Given the description of an element on the screen output the (x, y) to click on. 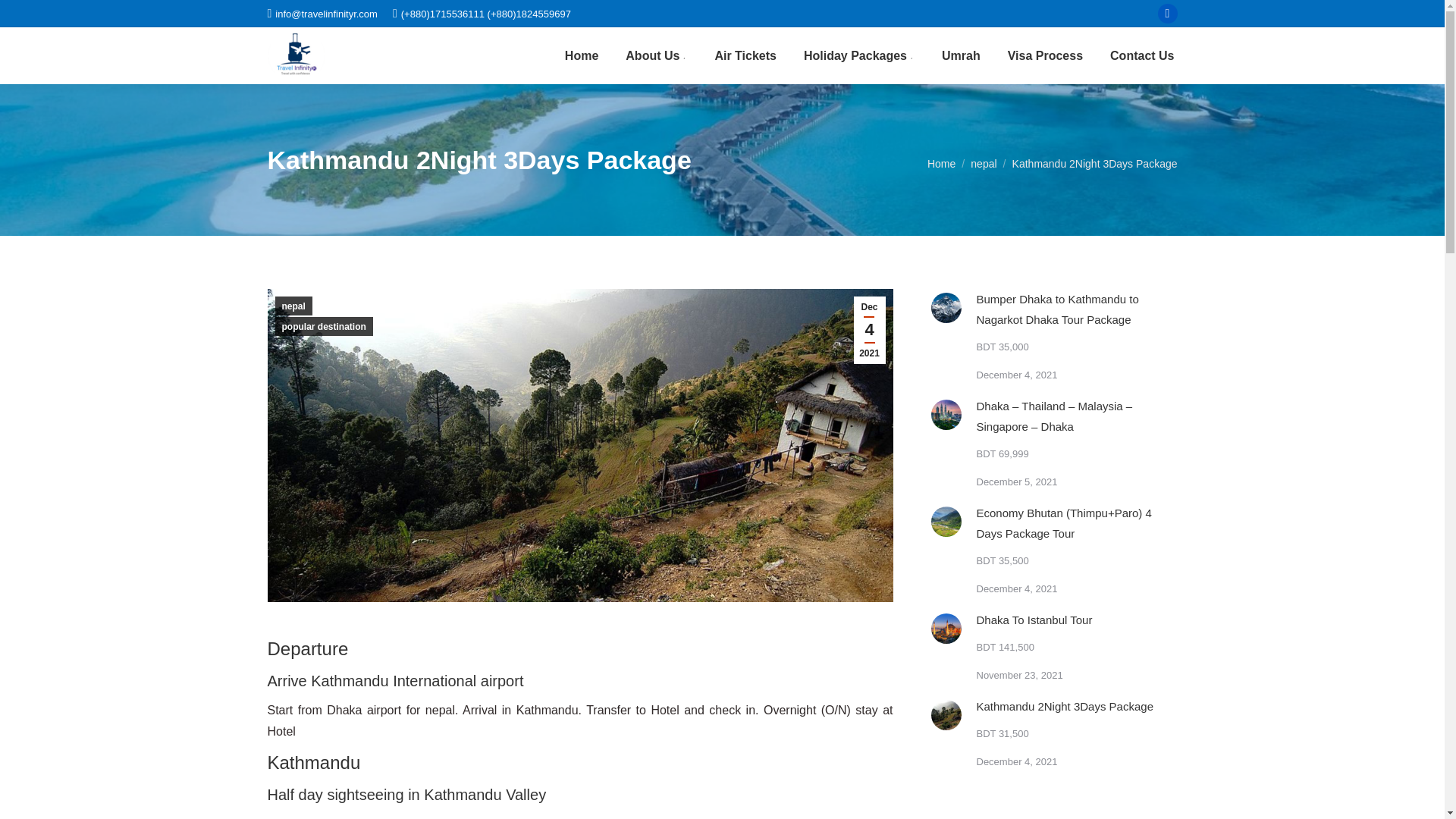
Umrah (961, 55)
Visa Process (1045, 55)
Facebook page opens in new window (1167, 13)
Holiday Packages (858, 55)
Air Tickets (744, 55)
Home (581, 55)
9:12 am (869, 329)
Contact Us (1141, 55)
About Us (656, 55)
Facebook page opens in new window (1167, 13)
